Given the description of an element on the screen output the (x, y) to click on. 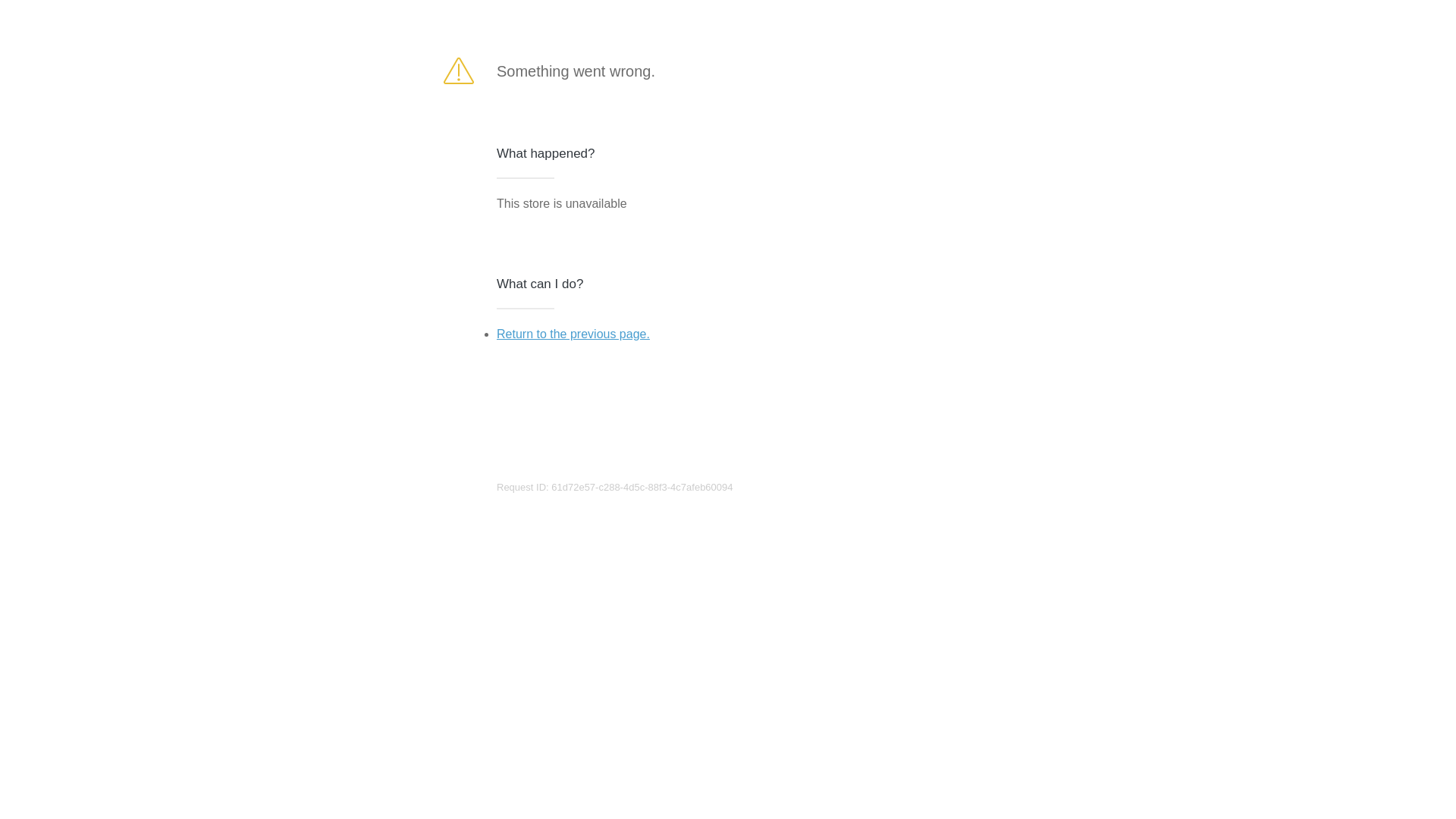
Return to the previous page. Element type: text (572, 333)
